Given the description of an element on the screen output the (x, y) to click on. 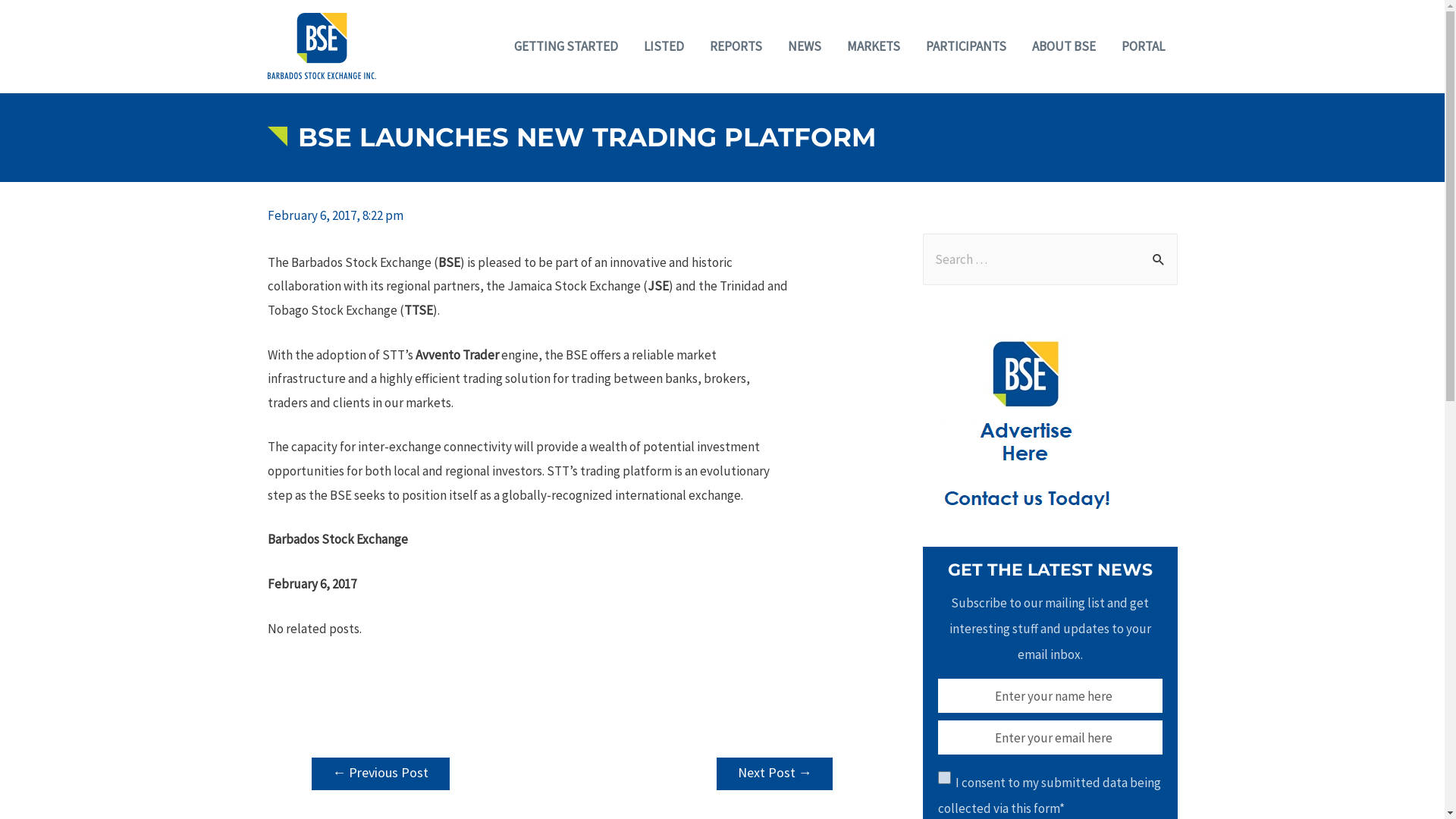
PORTAL Element type: text (1142, 46)
LISTED Element type: text (663, 46)
NEWS Element type: text (804, 46)
Search Element type: text (1160, 248)
Enter your email here Element type: hover (1049, 737)
Enter your name here Element type: hover (1049, 695)
ABOUT BSE Element type: text (1063, 46)
PARTICIPANTS Element type: text (966, 46)
REPORTS Element type: text (735, 46)
MARKETS Element type: text (873, 46)
GETTING STARTED Element type: text (565, 46)
